Given the description of an element on the screen output the (x, y) to click on. 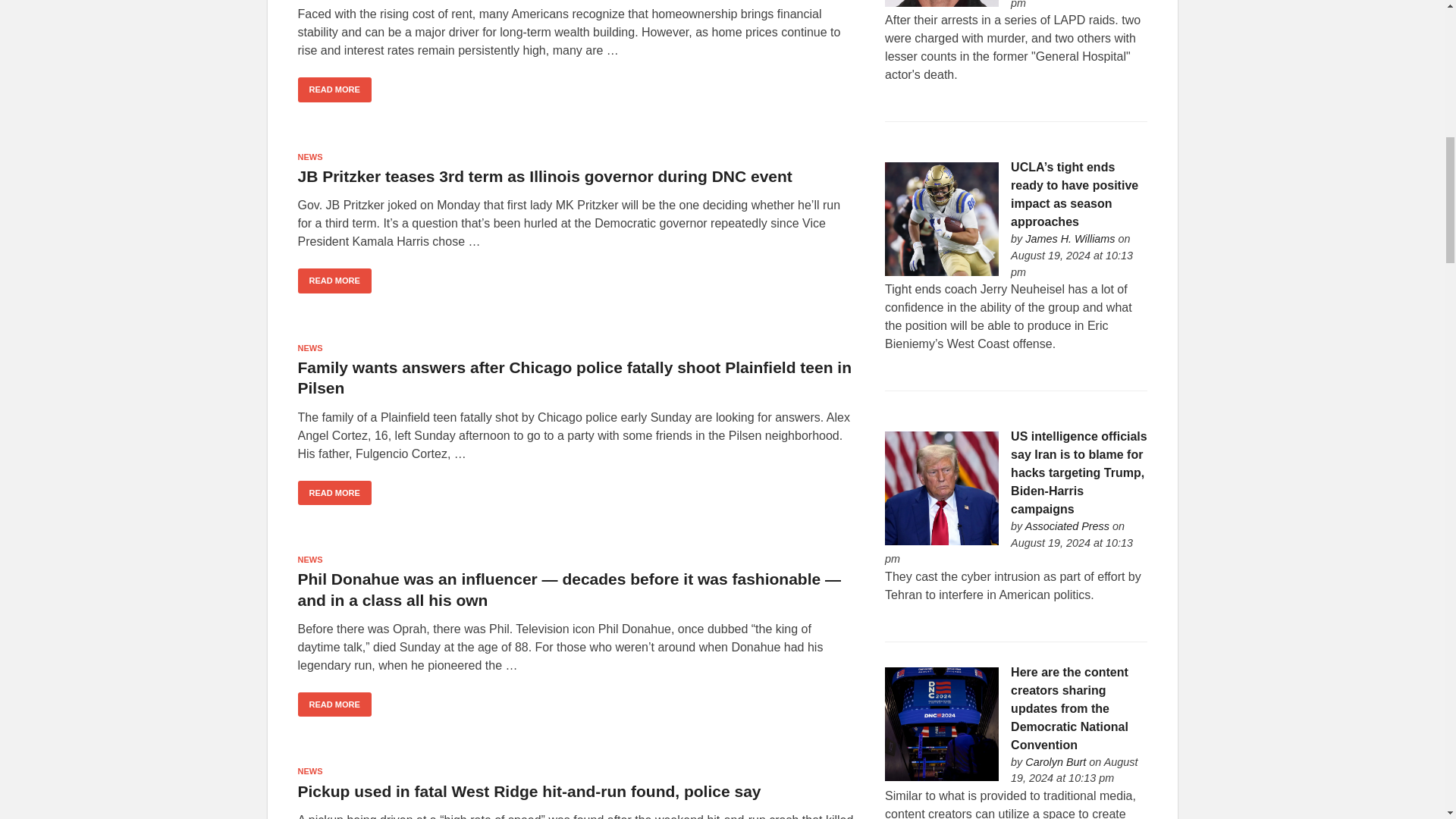
READ MORE (334, 280)
READ MORE (334, 704)
NEWS (309, 559)
www.dailynews.com (1067, 526)
READ MORE (334, 493)
READ MORE (334, 89)
NEWS (309, 347)
